Given the description of an element on the screen output the (x, y) to click on. 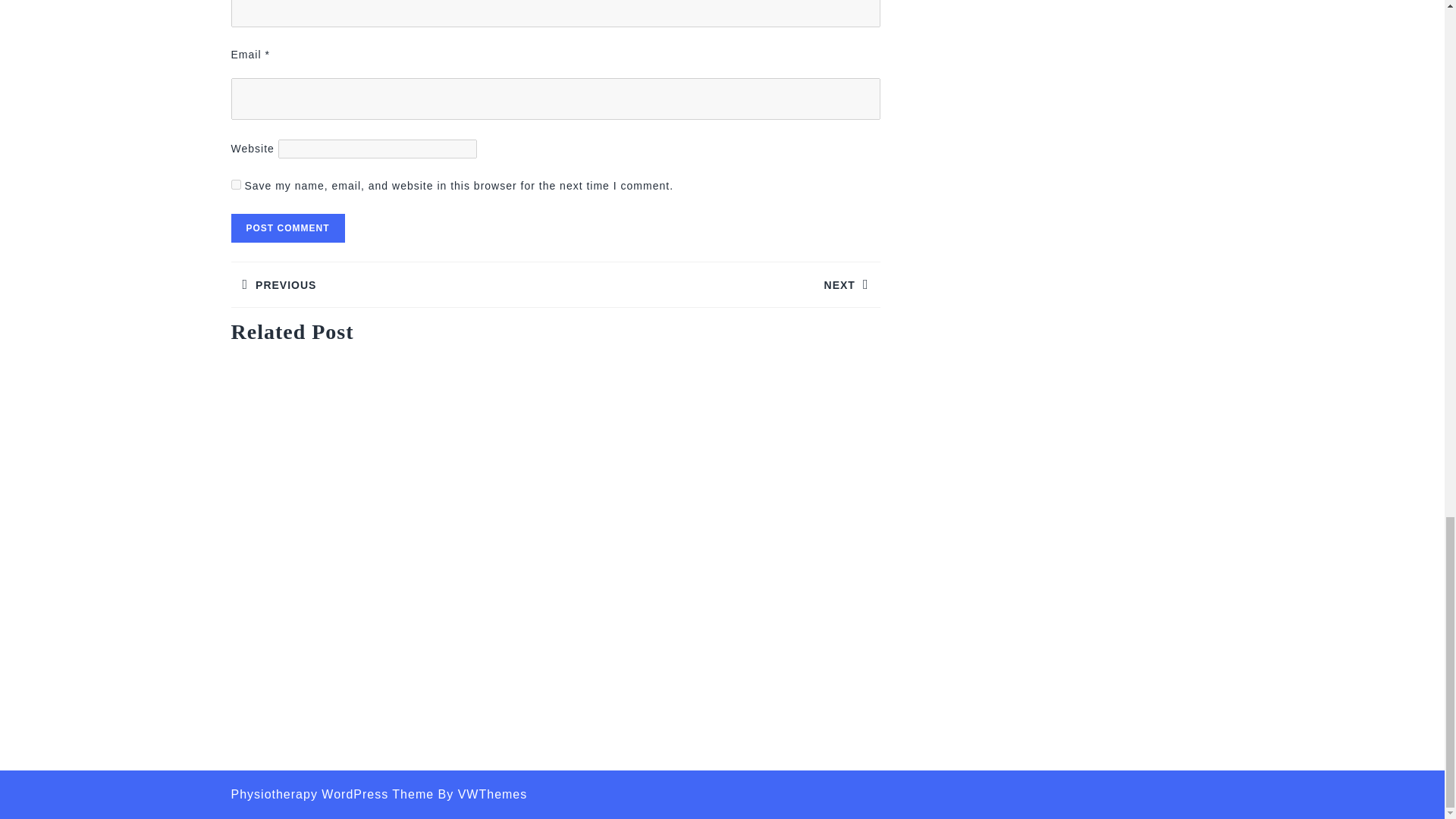
Post Comment (286, 227)
Physiotherapy WordPress Theme (392, 284)
yes (716, 284)
Post Comment (331, 793)
